Given the description of an element on the screen output the (x, y) to click on. 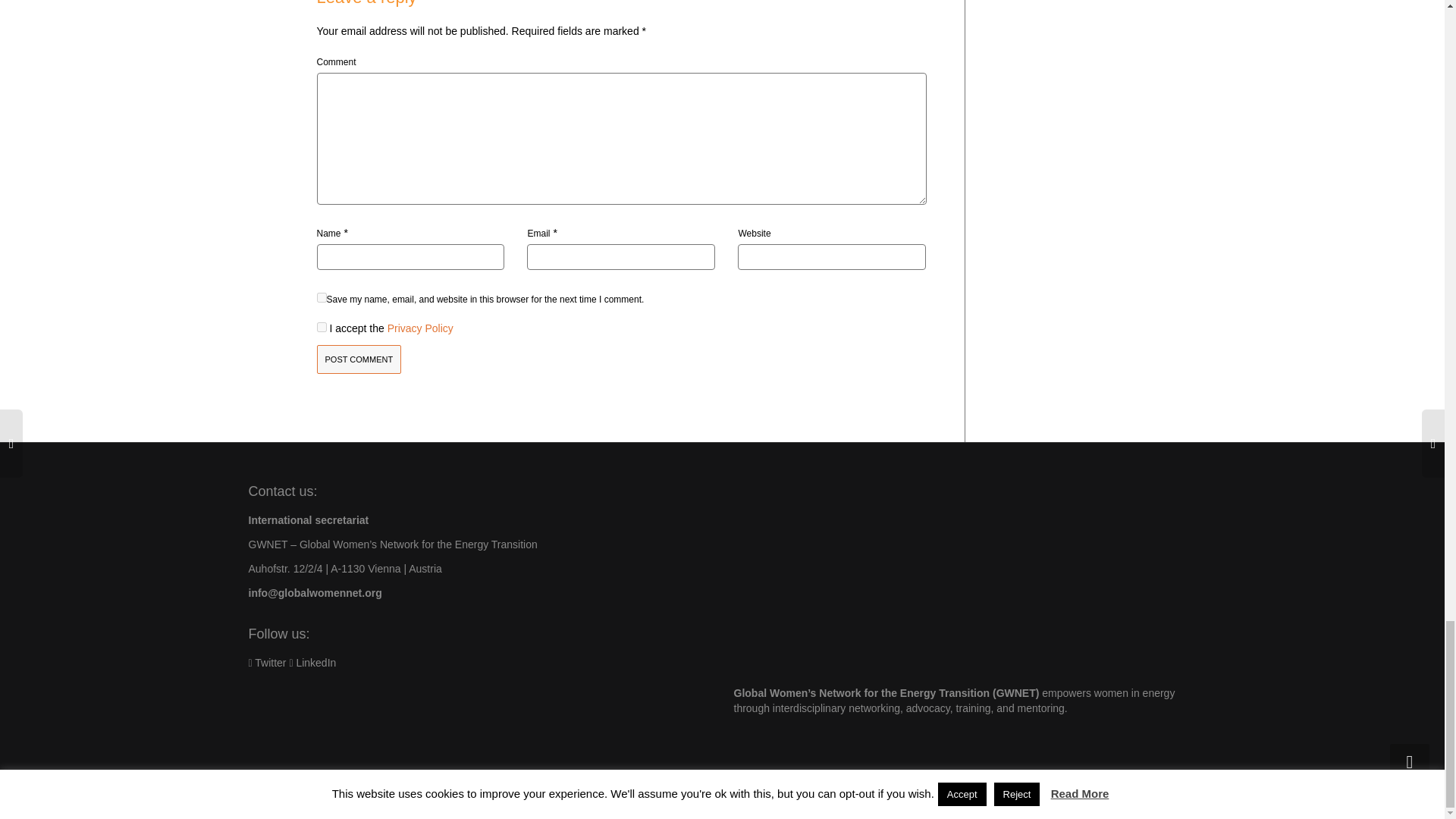
Post comment (359, 359)
yes (321, 297)
1 (321, 327)
